Given the description of an element on the screen output the (x, y) to click on. 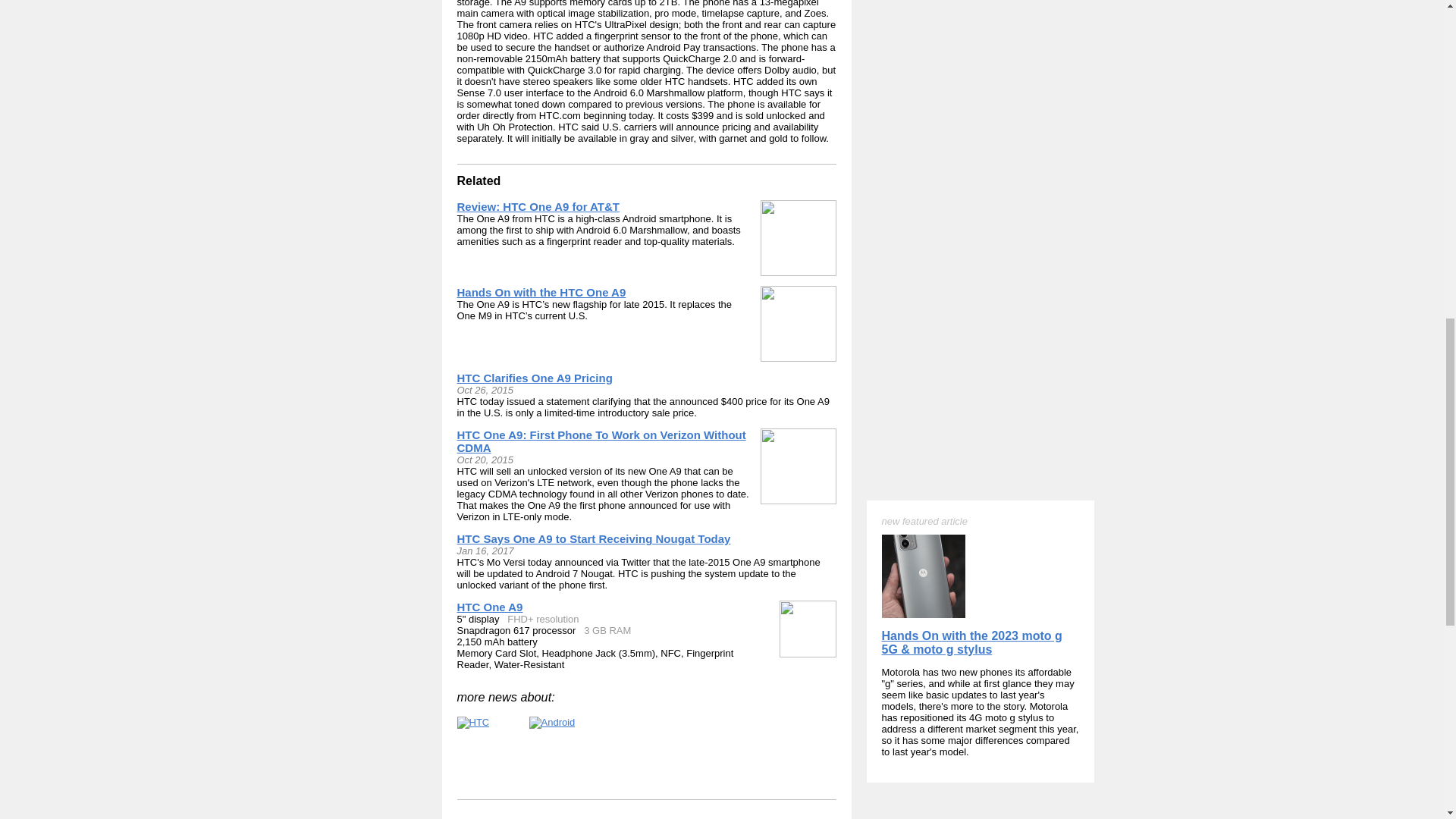
HTC (473, 722)
Android (552, 722)
Related (478, 180)
